Given the description of an element on the screen output the (x, y) to click on. 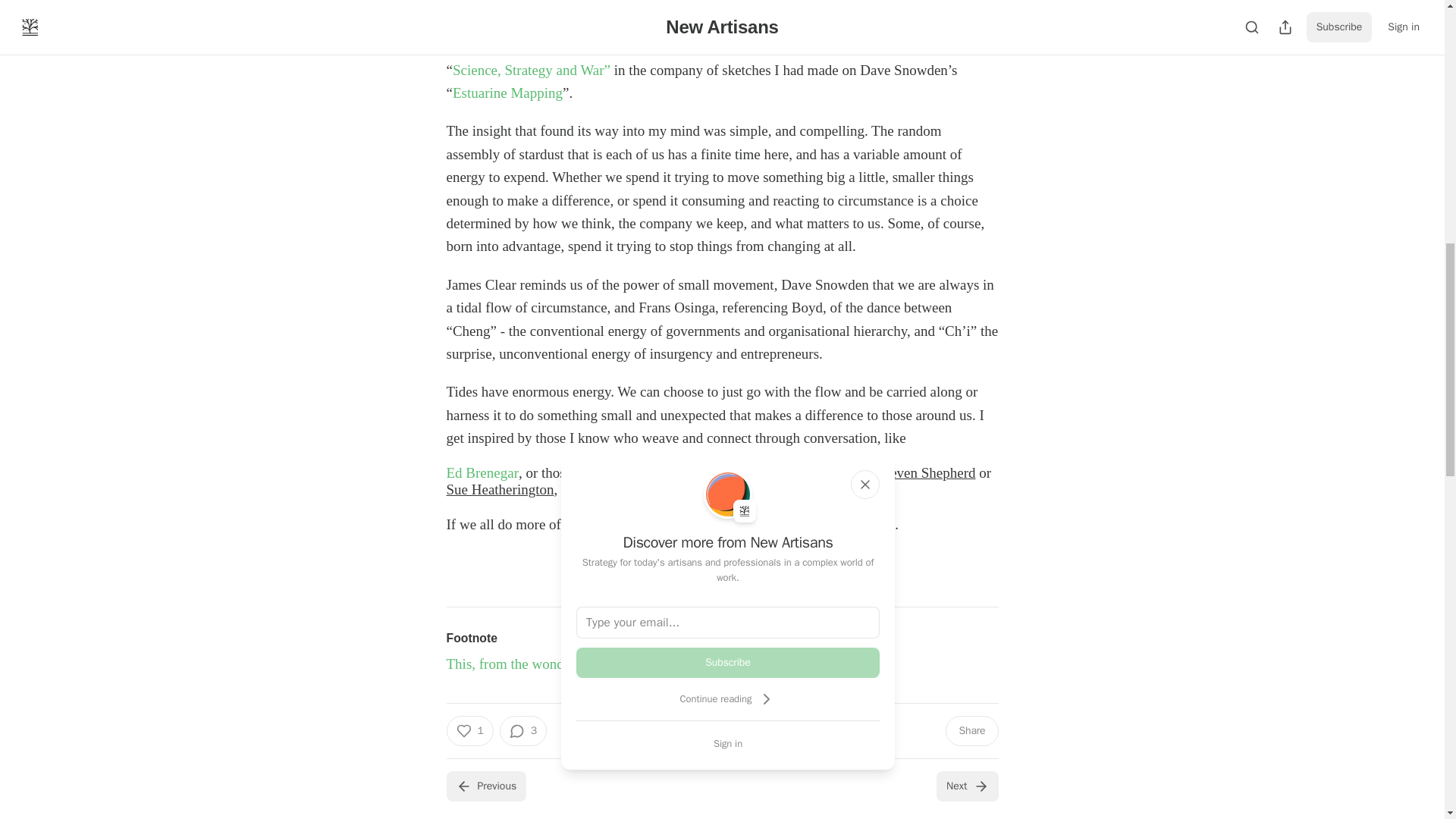
Estuarine Mapping (507, 92)
Atomic Habits (626, 46)
Steven Shepherd (926, 472)
Subscribe (827, 567)
Sue Heatherington (499, 489)
1 (469, 730)
This, from the wonderful Maria Popova (560, 663)
Ed Brenegar (481, 473)
Subscribe (727, 662)
Sign in (727, 743)
